Given the description of an element on the screen output the (x, y) to click on. 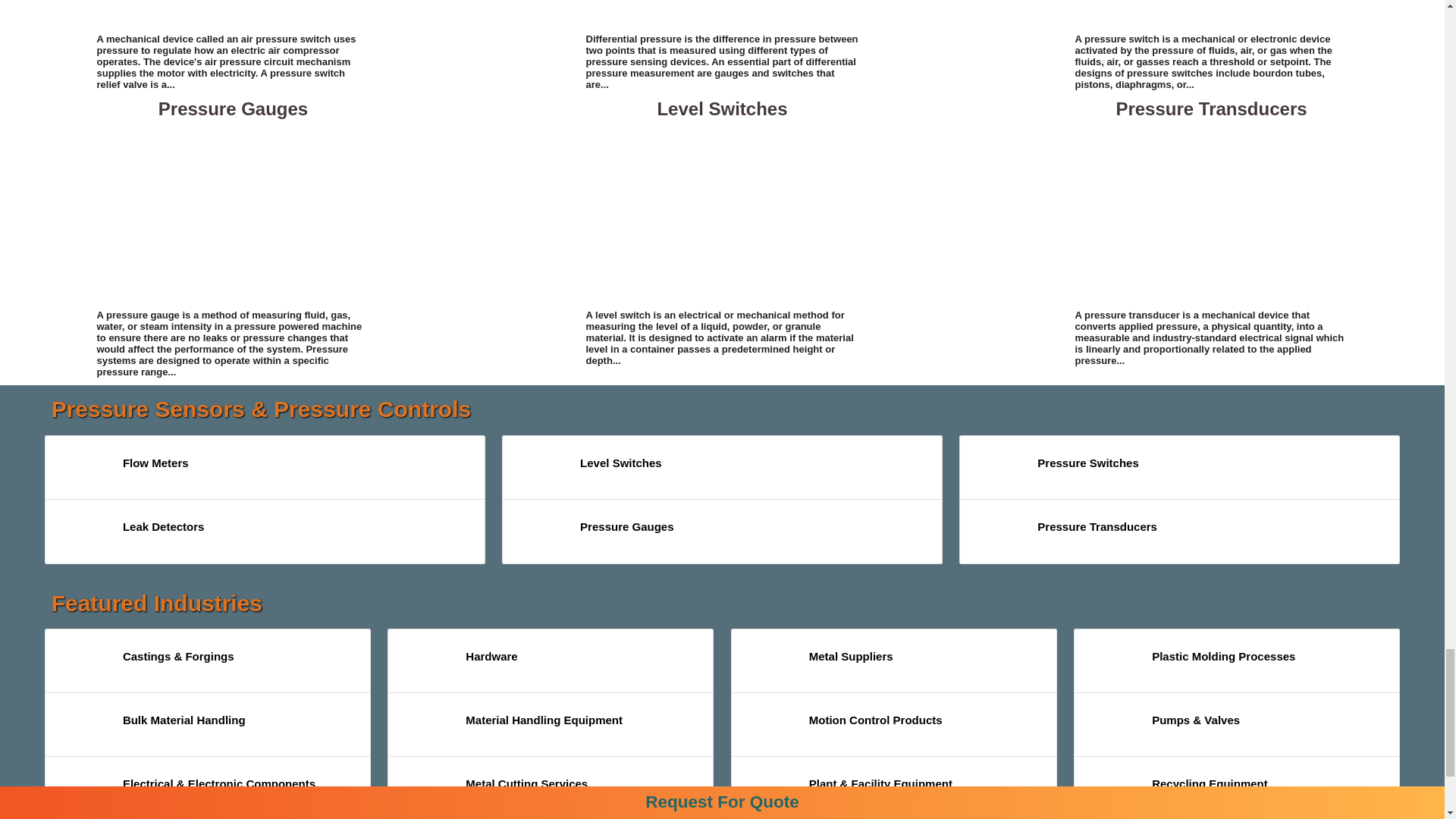
Pressure Gauges (233, 213)
Pressure Switches (1211, 13)
Differential Pressure Switch (722, 13)
Air Pressure Switches (233, 13)
